Given the description of an element on the screen output the (x, y) to click on. 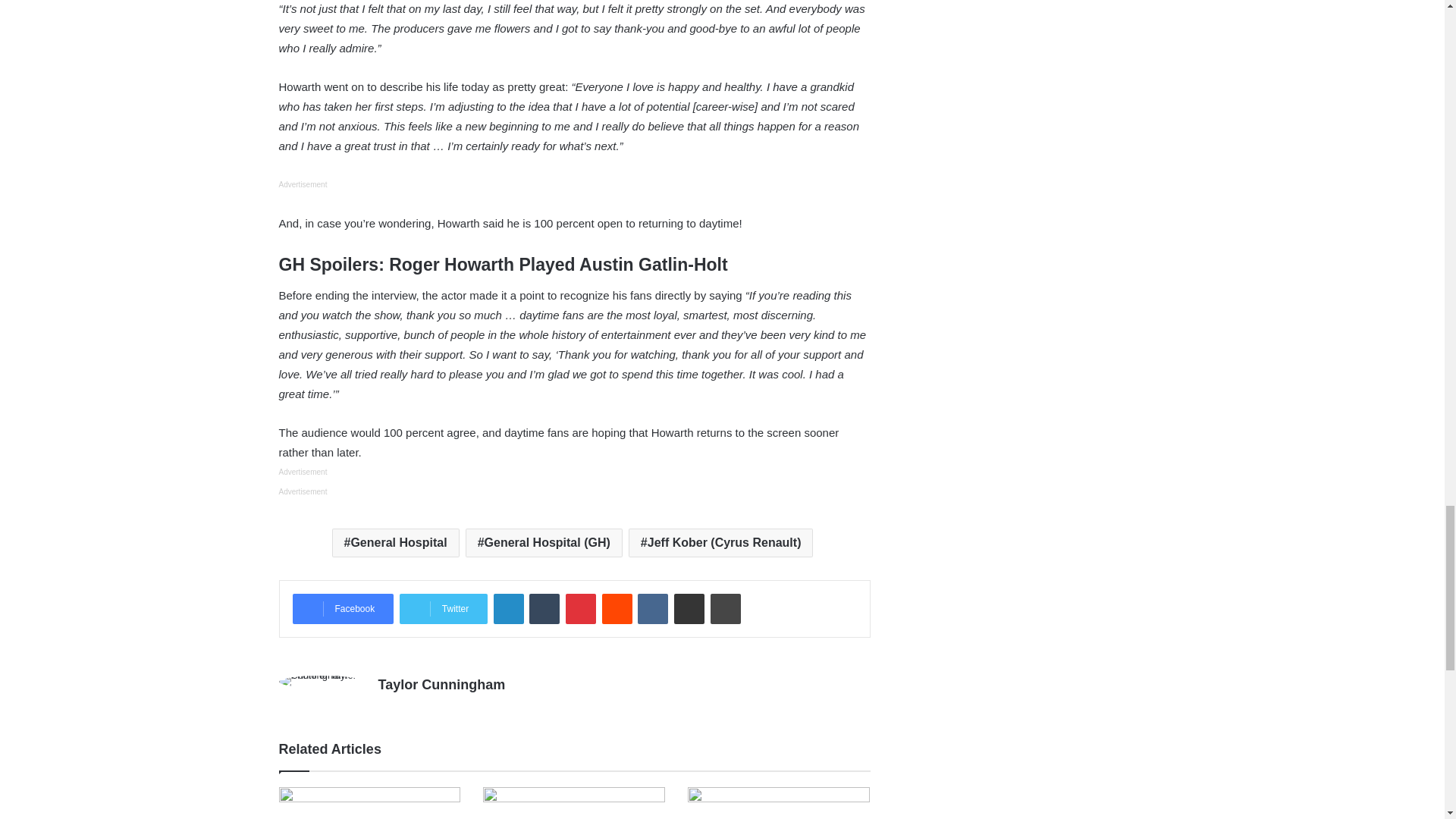
Facebook (343, 608)
Twitter (442, 608)
LinkedIn (508, 608)
General Hospital (395, 542)
VKontakte (652, 608)
Print (725, 608)
Tumblr (544, 608)
VKontakte (652, 608)
Facebook (343, 608)
Twitter (442, 608)
